Given the description of an element on the screen output the (x, y) to click on. 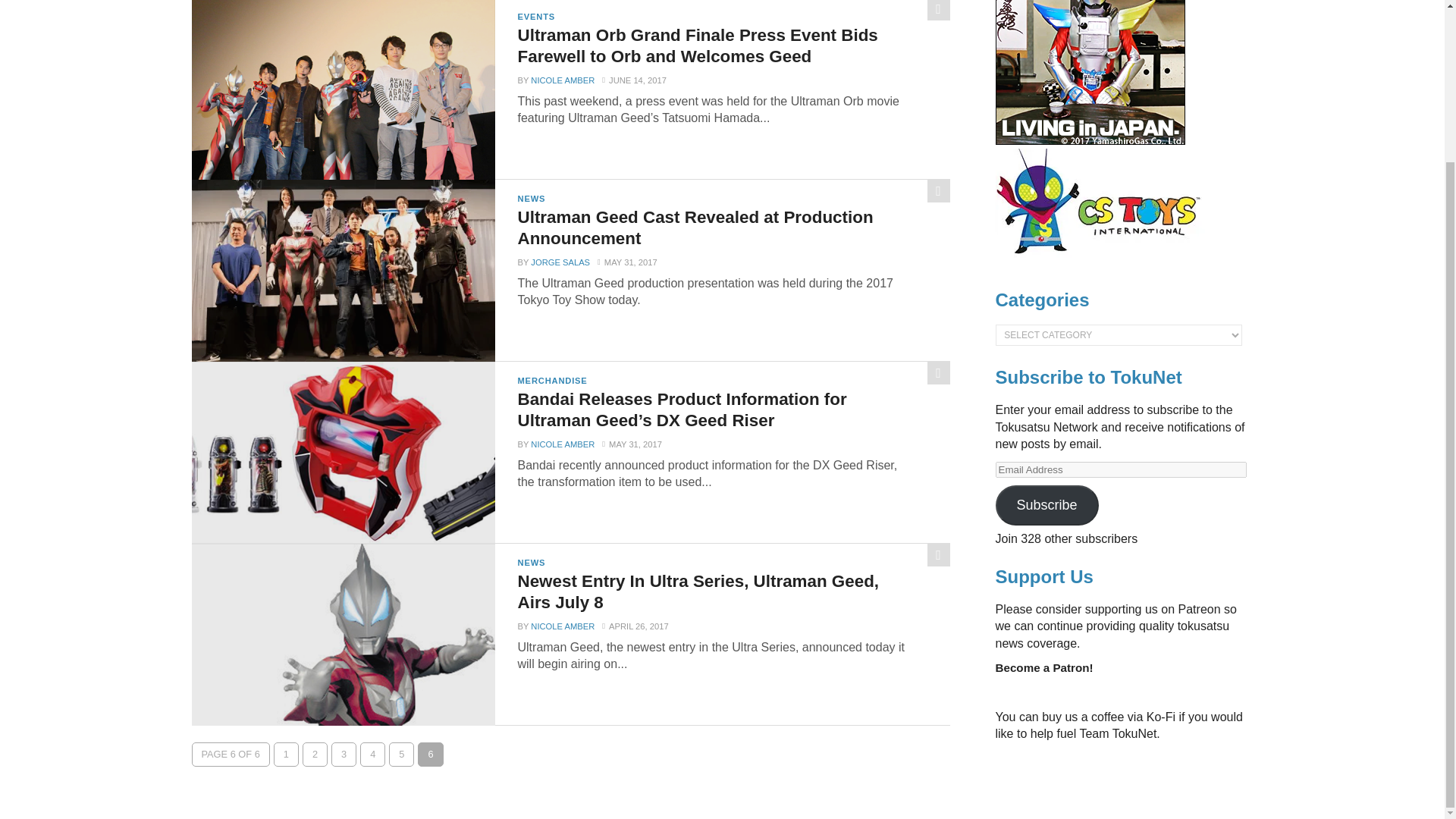
Posts by Nicole Amber (562, 443)
NICOLE AMBER (562, 80)
Posts by Nicole Amber (562, 625)
Posts by Nicole Amber (562, 80)
Posts by Jorge Salas (560, 261)
